Given the description of an element on the screen output the (x, y) to click on. 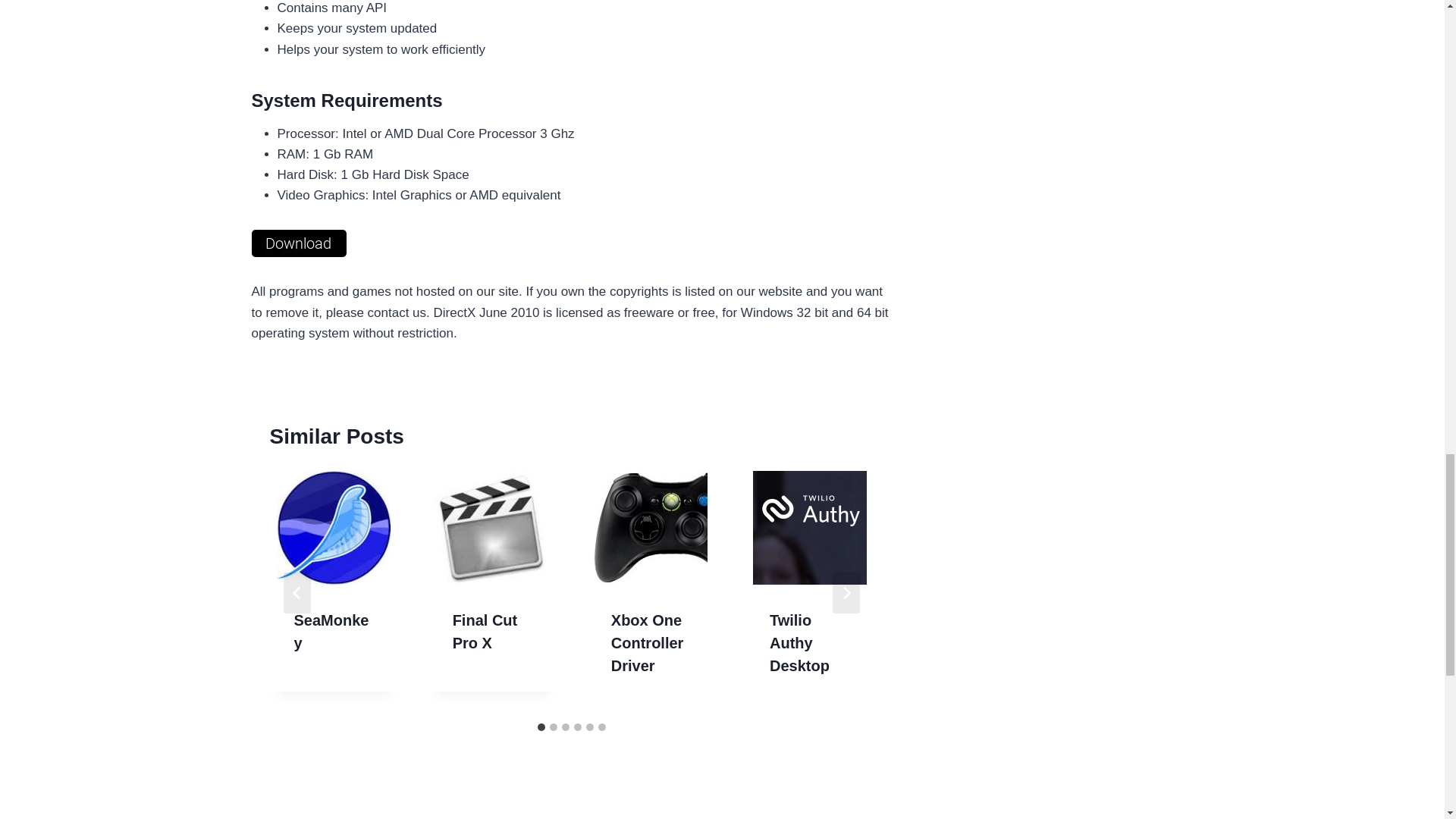
Final Cut Pro X (485, 631)
Xbox One Controller Driver (647, 642)
SeaMonkey (331, 631)
Twilio Authy Desktop (799, 642)
